Given the description of an element on the screen output the (x, y) to click on. 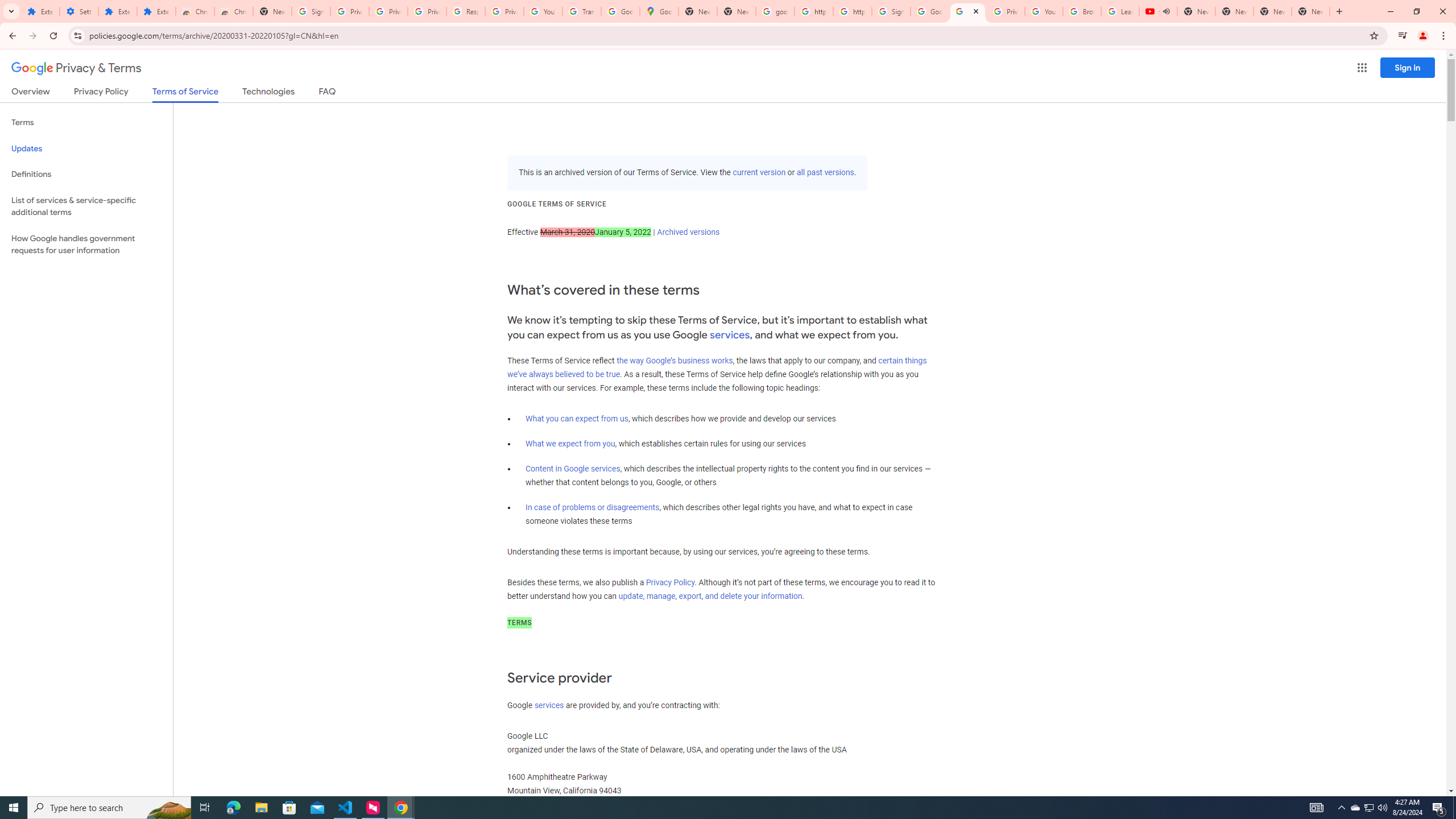
Sign in - Google Accounts (310, 11)
Google Maps (659, 11)
New Tab (1311, 11)
Settings (79, 11)
Extensions (117, 11)
services (549, 705)
Chrome Web Store (194, 11)
Content in Google services (572, 468)
